Given the description of an element on the screen output the (x, y) to click on. 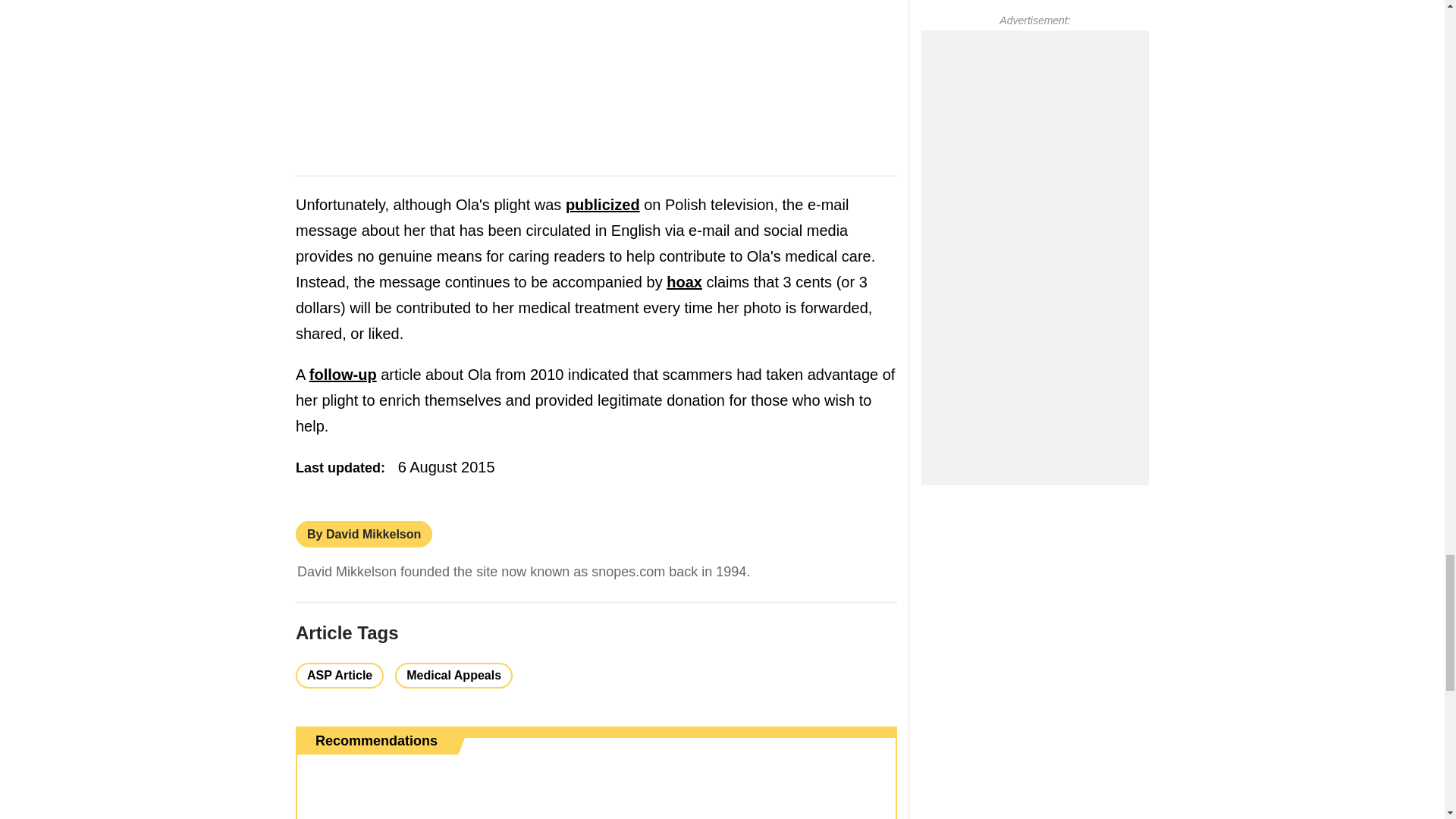
hoax (683, 281)
publicized (603, 204)
